Given the description of an element on the screen output the (x, y) to click on. 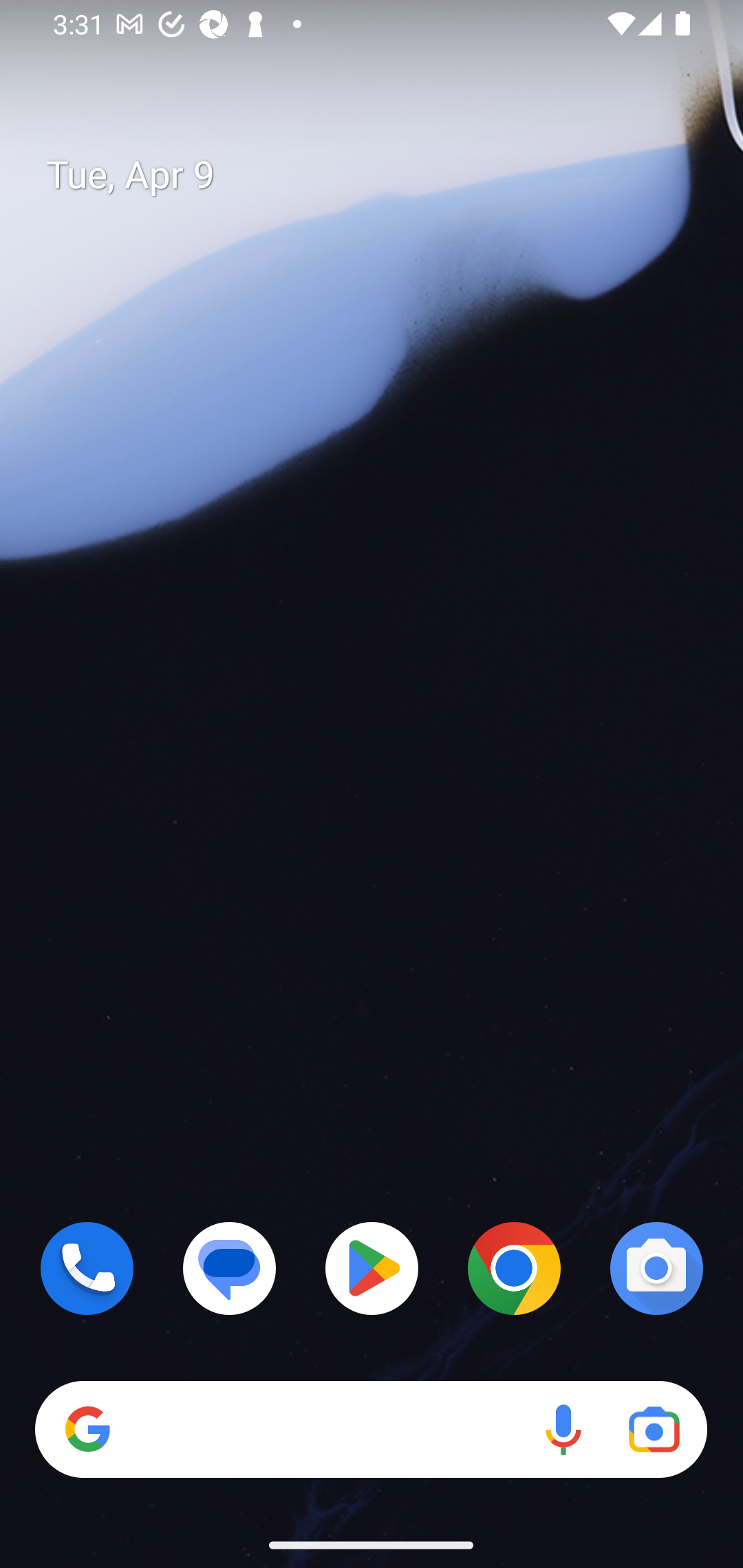
Tue, Apr 9 (386, 175)
Phone (86, 1268)
Messages (229, 1268)
Play Store (371, 1268)
Chrome (513, 1268)
Camera (656, 1268)
Search Voice search Google Lens (370, 1429)
Voice search (562, 1429)
Google Lens (653, 1429)
